Given the description of an element on the screen output the (x, y) to click on. 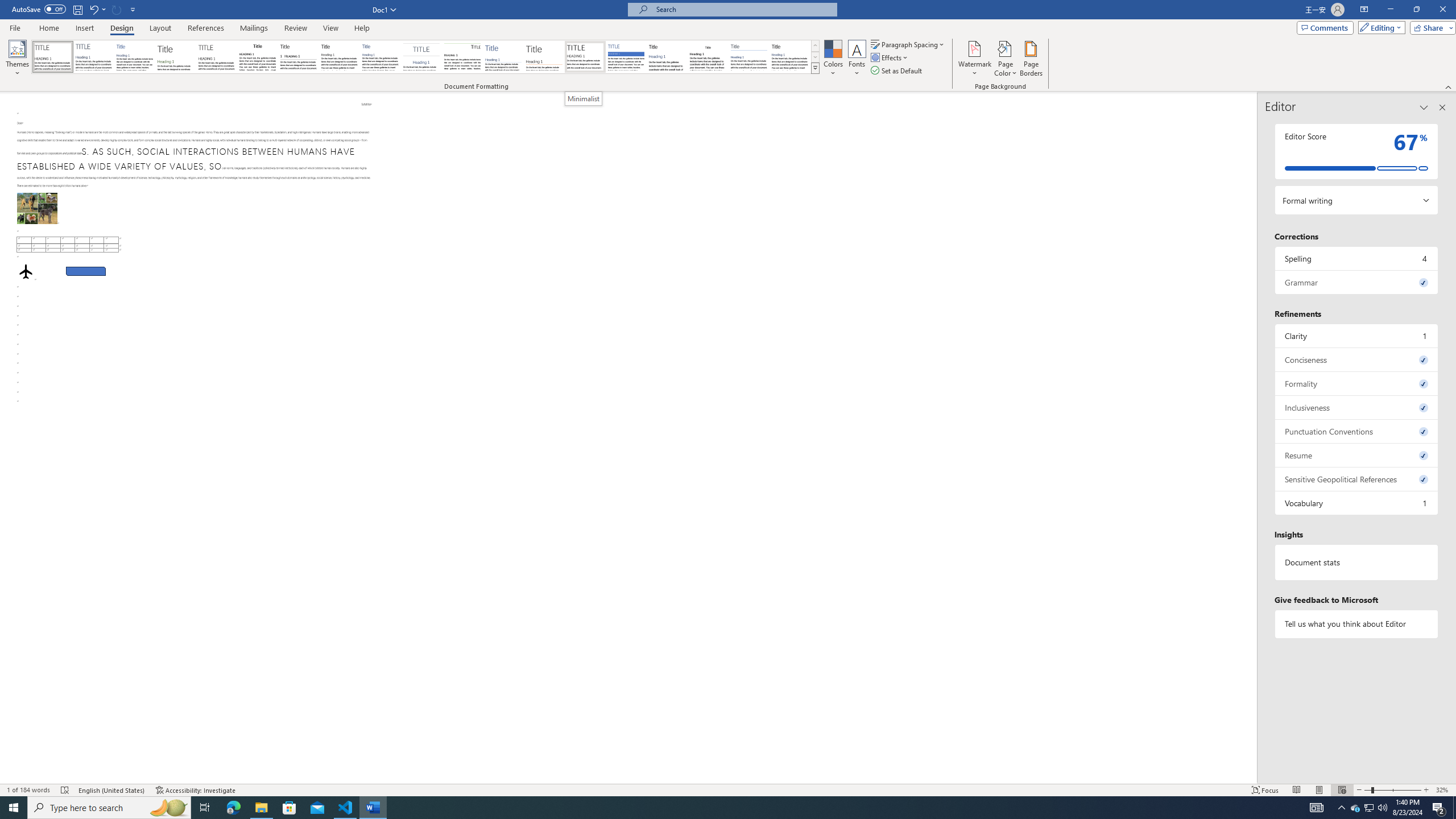
Word 2010 (749, 56)
Watermark (974, 58)
Set as Default (897, 69)
Document (52, 56)
Black & White (Classic) (257, 56)
Airplane with solid fill (25, 270)
